Given the description of an element on the screen output the (x, y) to click on. 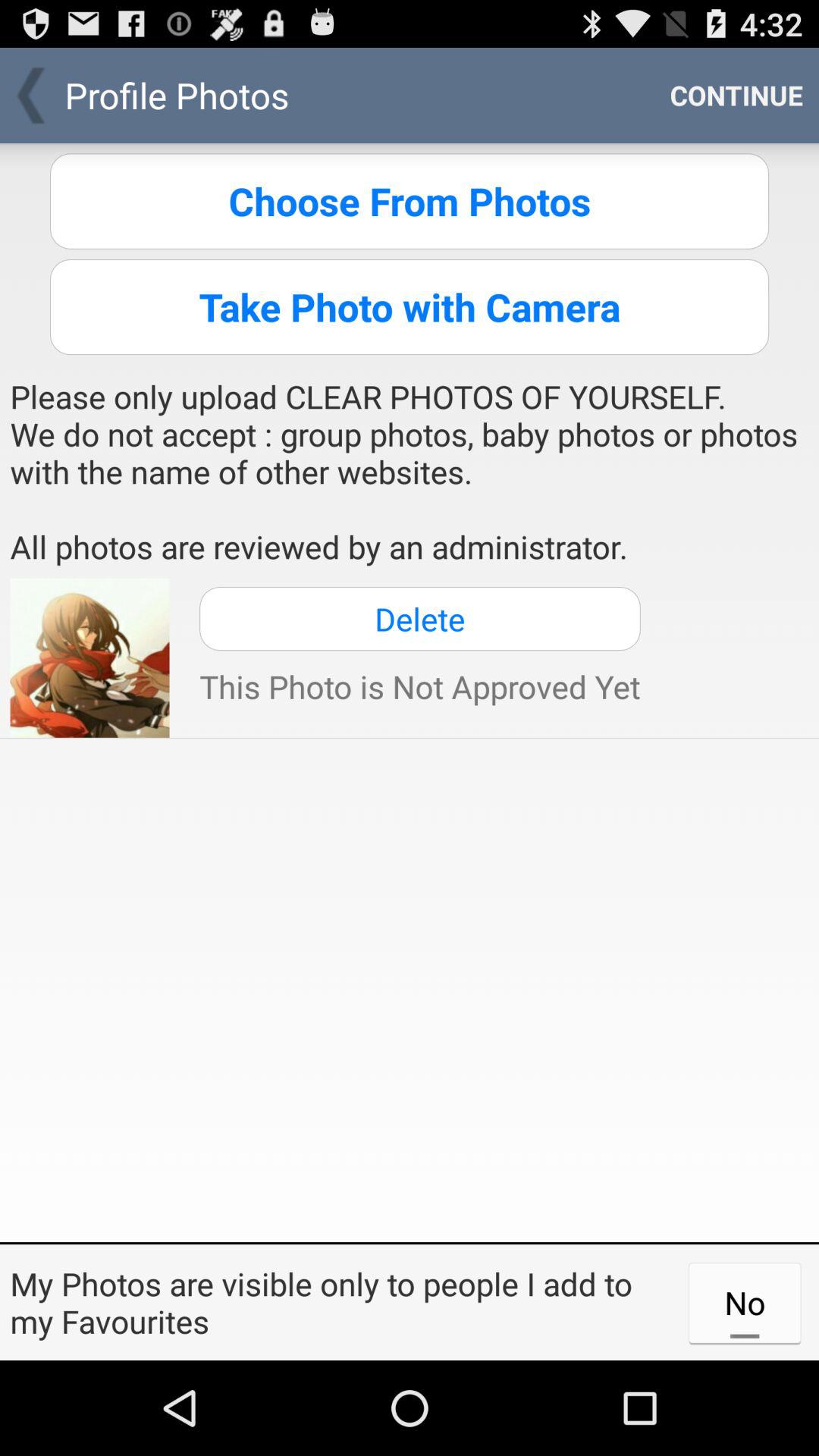
turn on button above take photo with item (409, 201)
